Given the description of an element on the screen output the (x, y) to click on. 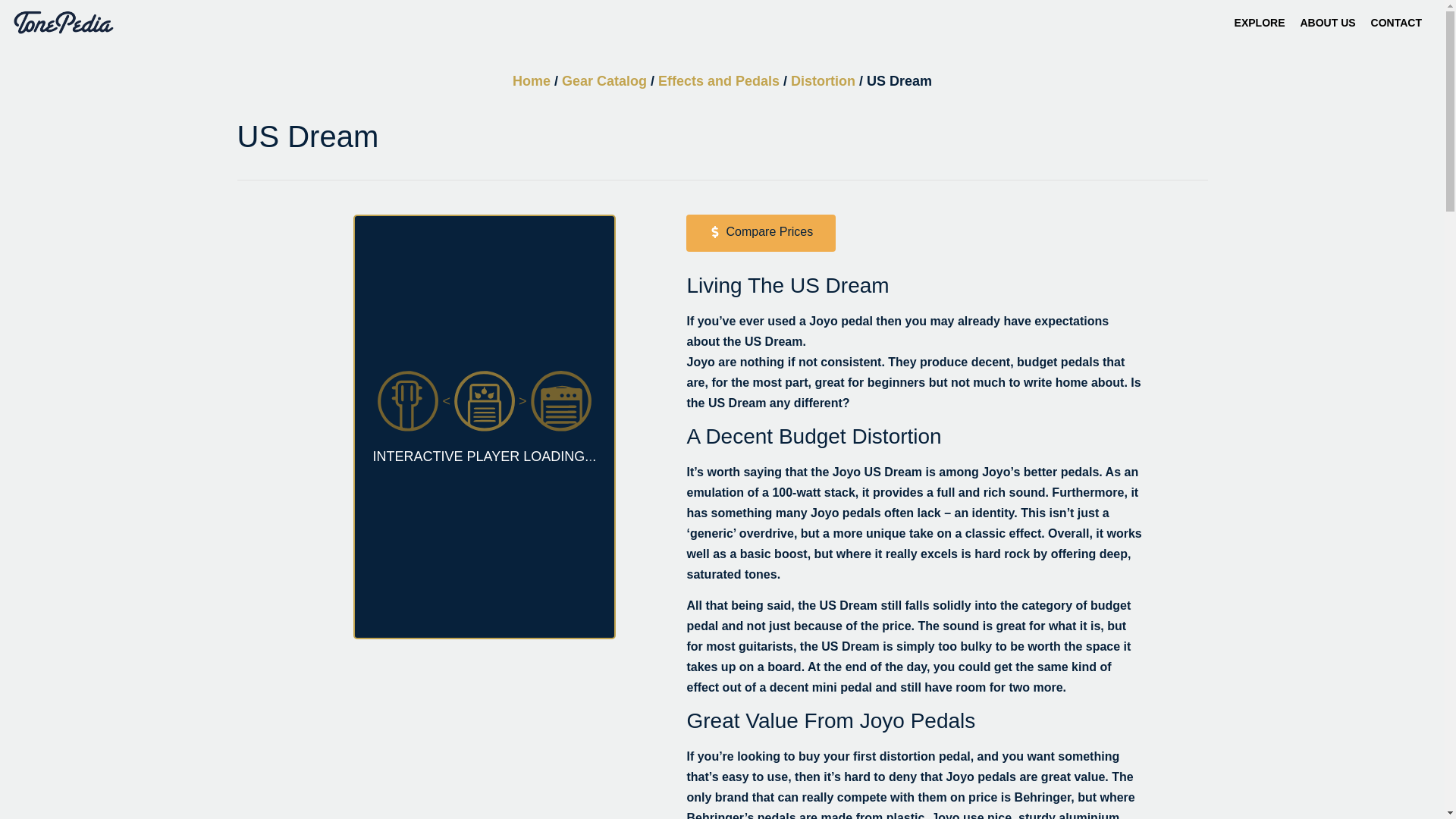
CONTACT (1395, 27)
ABOUT US (1327, 27)
EXPLORE (1259, 27)
